Given the description of an element on the screen output the (x, y) to click on. 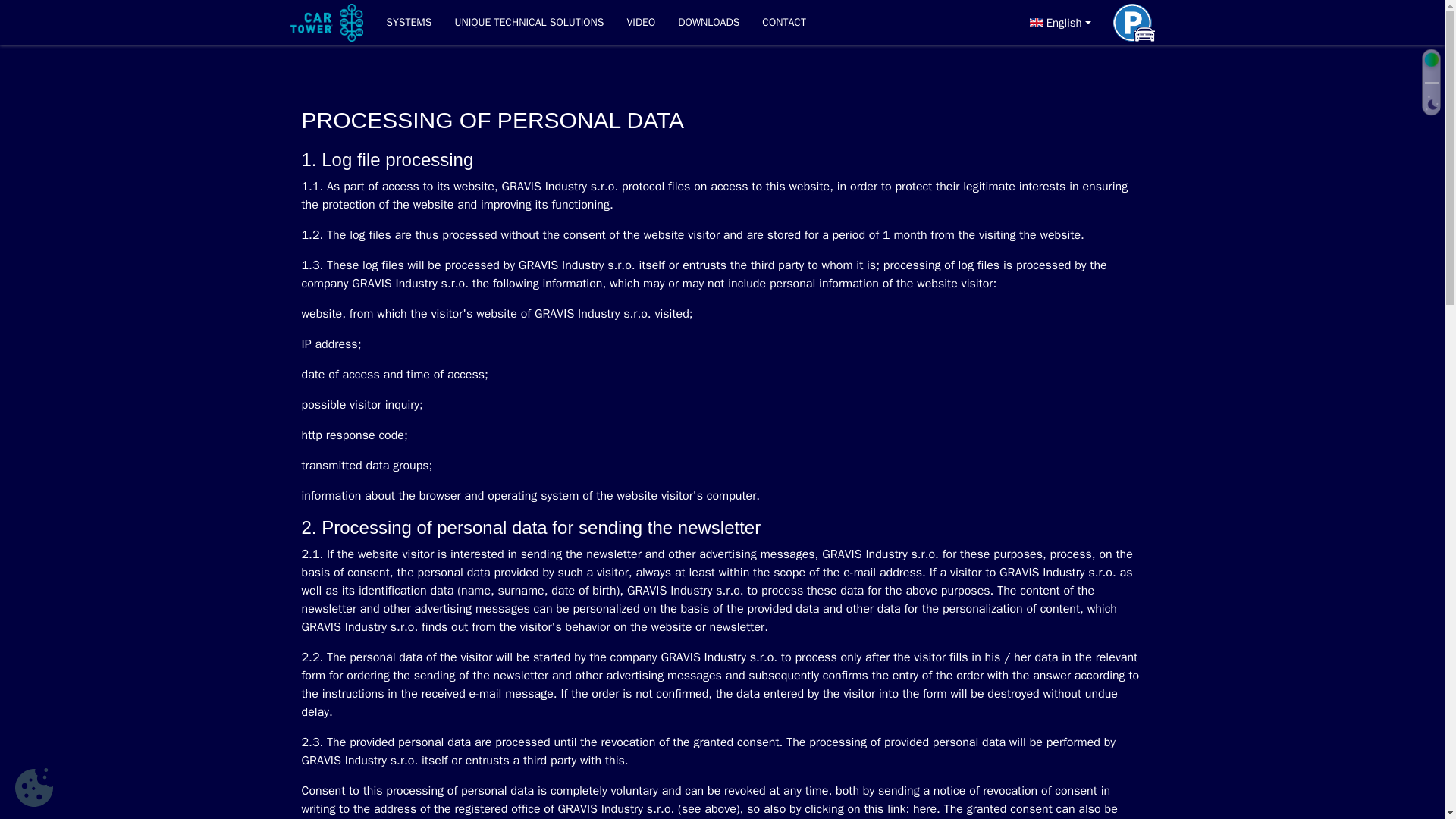
CONTACT (778, 22)
SYSTEMS (408, 22)
VIDEO (640, 22)
UNIQUE TECHNICAL SOLUTIONS (528, 22)
English (1056, 22)
DOWNLOADS (708, 22)
